Given the description of an element on the screen output the (x, y) to click on. 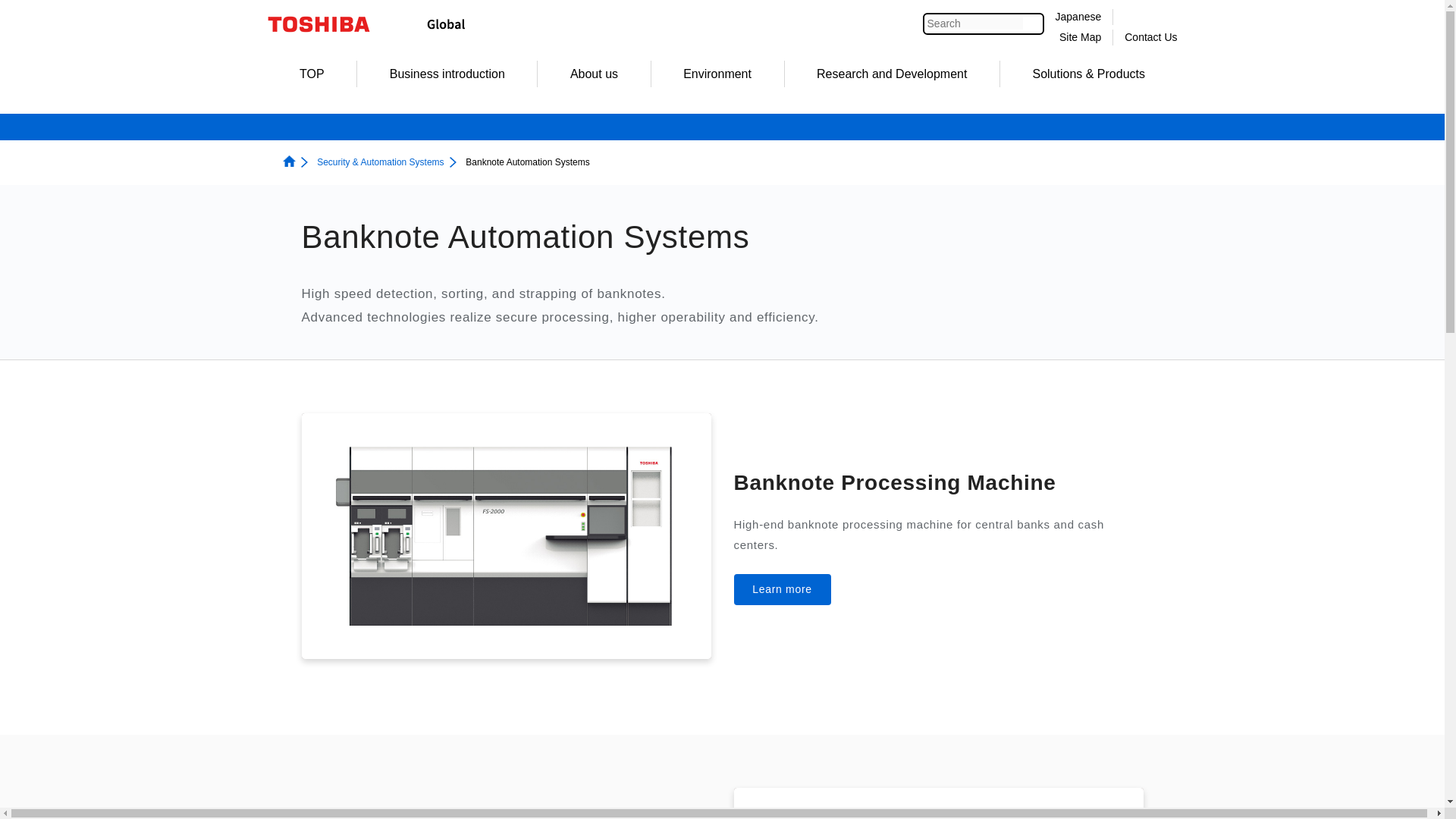
Japanese (1078, 16)
Toshiba Global Top Page (327, 24)
Search (975, 23)
Contact Us (1150, 37)
Contact Us (1150, 37)
Site Map (1079, 37)
Japanese (1078, 16)
Site Map (1079, 37)
